Given the description of an element on the screen output the (x, y) to click on. 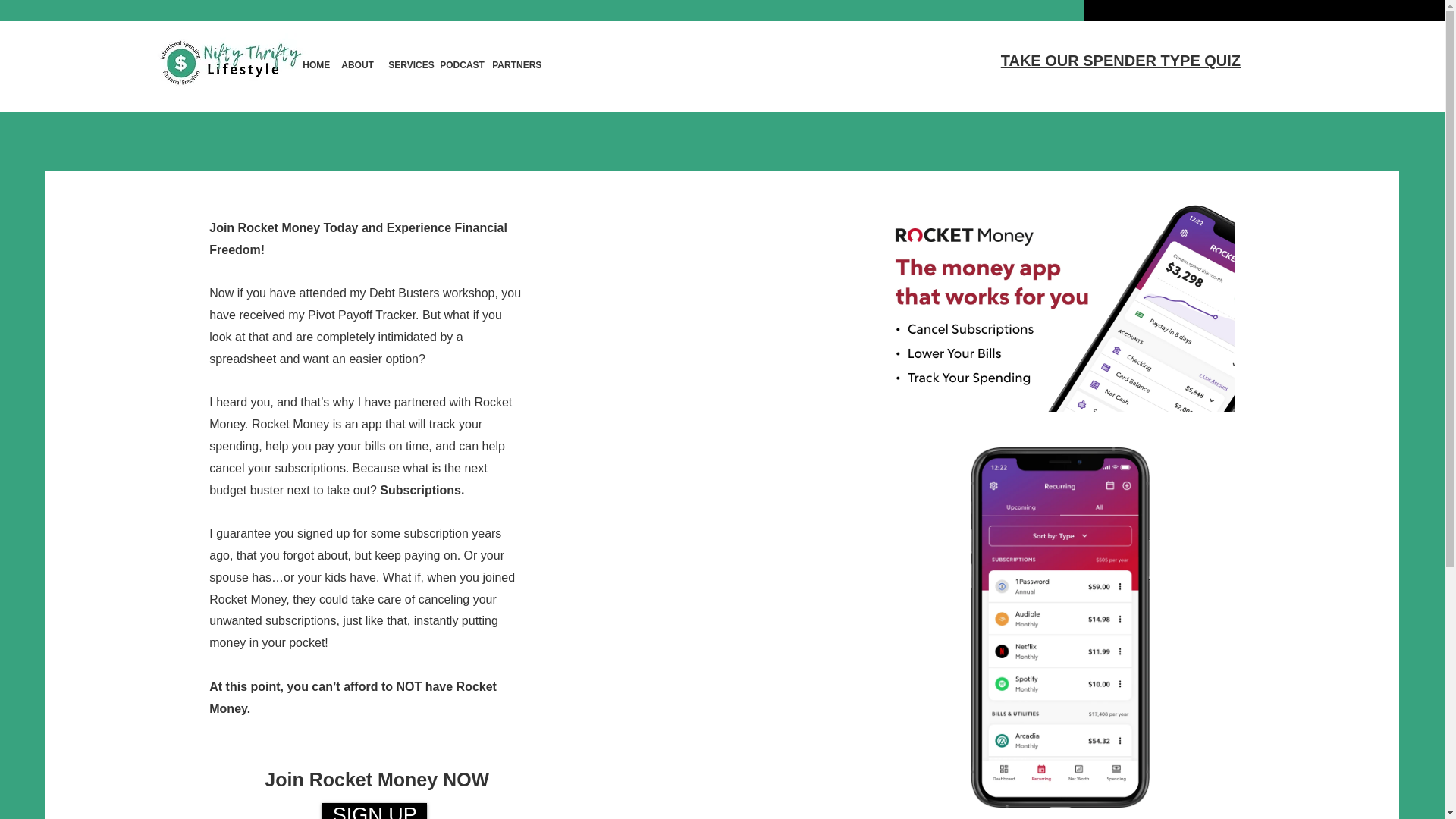
SERVICES (410, 64)
PARTNERS (516, 64)
HOME (316, 64)
ABOUT (357, 64)
SIGN UP (373, 811)
PODCAST (461, 64)
TAKE OUR SPENDER TYPE QUIZ (1120, 60)
